Given the description of an element on the screen output the (x, y) to click on. 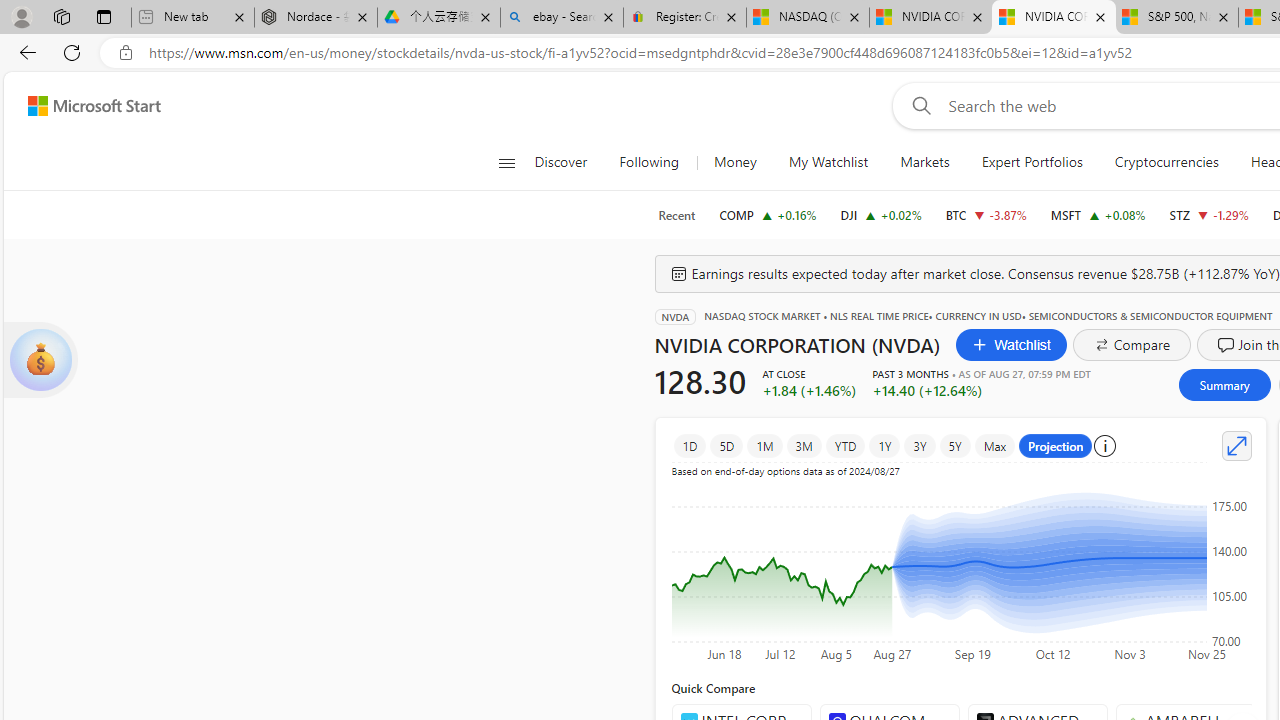
1M (765, 445)
STZ CONSTELLATION BRANDS, INC. decrease 239.98 -3.13 -1.29% (1208, 214)
3Y (919, 445)
Compare (1131, 344)
1Y (885, 445)
S&P 500, Nasdaq end lower, weighed by Nvidia dip | Watch (1176, 17)
Markets (925, 162)
Max (995, 445)
Watchlist (1011, 344)
YTD (845, 445)
